Given the description of an element on the screen output the (x, y) to click on. 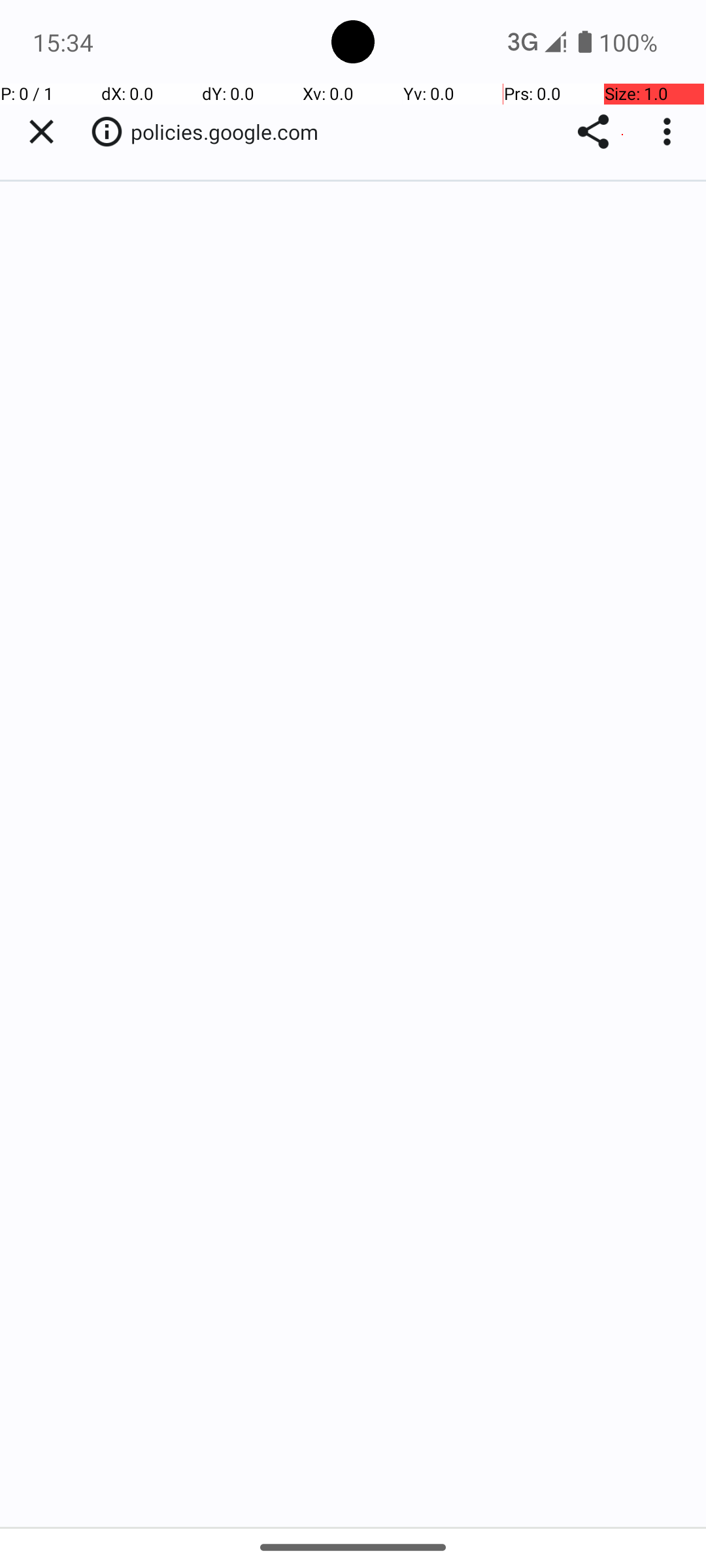
policies.google.com Element type: android.widget.TextView (231, 131)
